Given the description of an element on the screen output the (x, y) to click on. 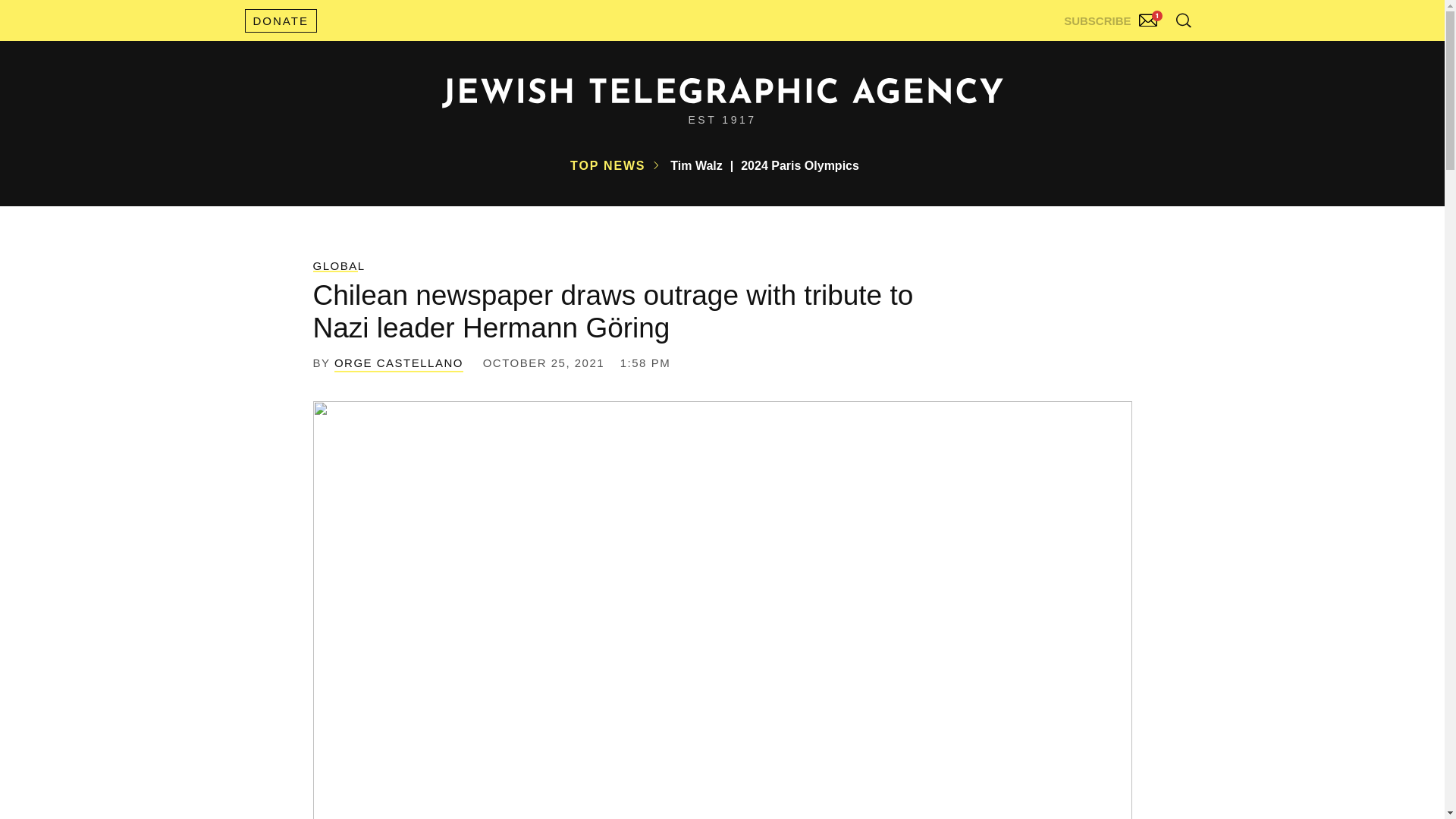
Search (1144, 53)
DONATE (279, 20)
SEARCH TOGGLESEARCH TOGGLE (1182, 20)
SUBSCRIBE (1112, 17)
